Given the description of an element on the screen output the (x, y) to click on. 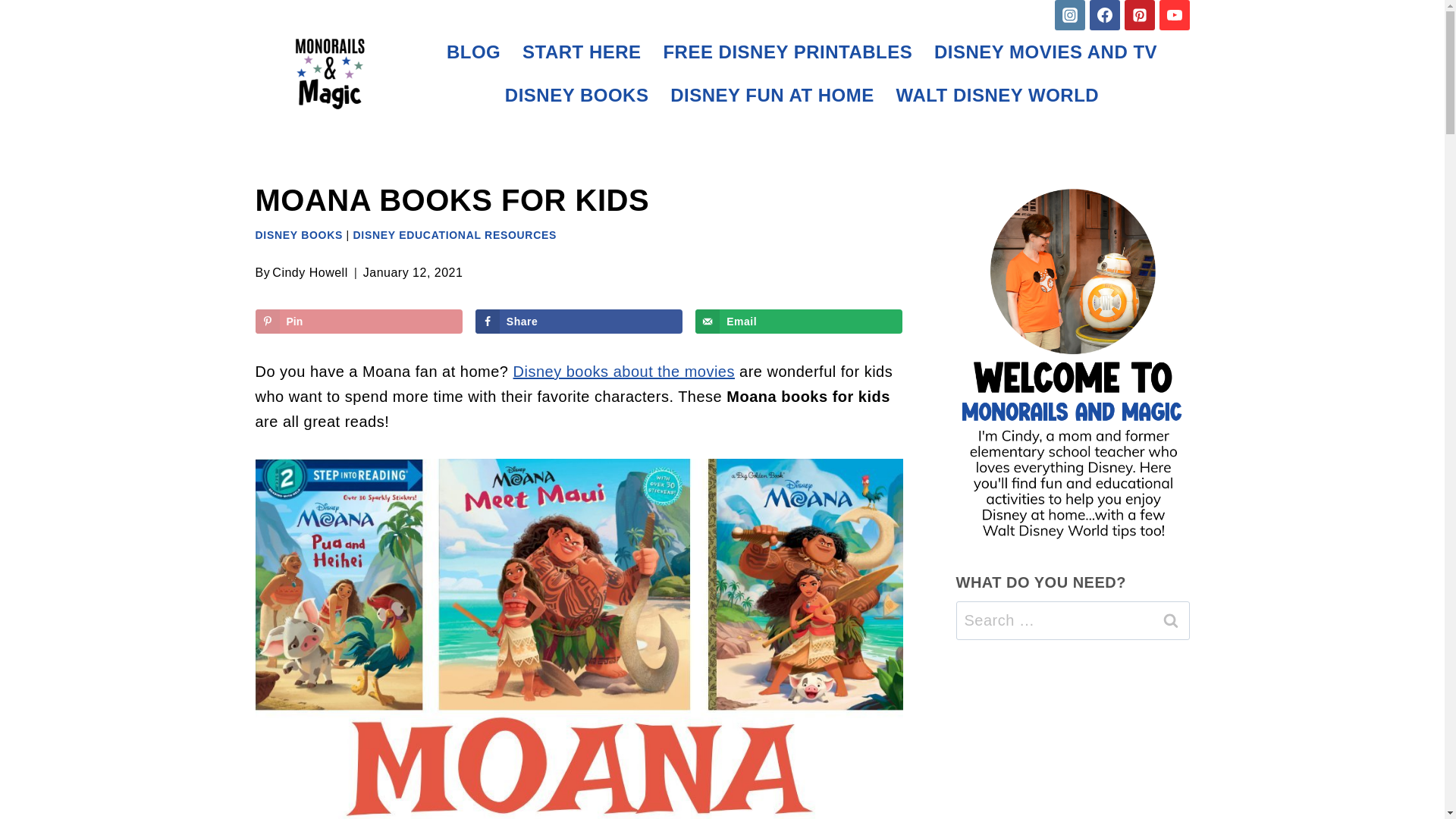
Search (1170, 620)
START HERE (582, 51)
Share on Facebook (579, 321)
BLOG (473, 51)
DISNEY MOVIES AND TV (1046, 51)
Disney books about the movies (624, 371)
Advertisement (1072, 740)
DISNEY BOOKS (298, 234)
Send over email (798, 321)
Search (1170, 620)
Pin (357, 321)
DISNEY EDUCATIONAL RESOURCES (455, 234)
DISNEY FUN AT HOME (772, 95)
Save to Pinterest (357, 321)
DISNEY BOOKS (576, 95)
